Given the description of an element on the screen output the (x, y) to click on. 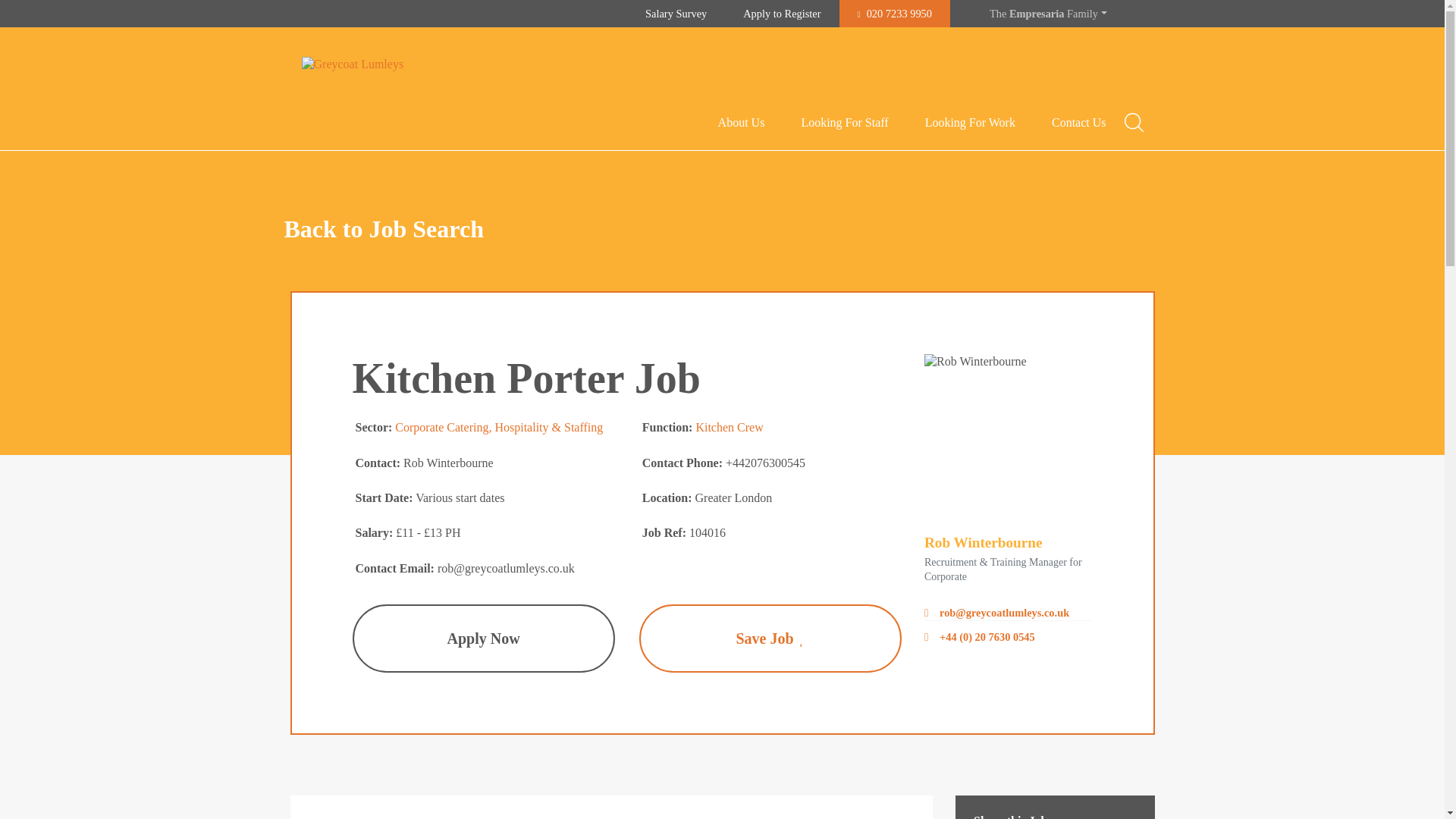
About Us (741, 122)
Back to Job Search (383, 228)
Apply to Register (781, 13)
Kitchen Crew (728, 427)
Looking For Staff (844, 122)
The Empresaria Family (1047, 13)
Contact Us (1078, 122)
Apply Now (483, 638)
020 7233 9950 (895, 13)
Salary Survey (676, 13)
